Given the description of an element on the screen output the (x, y) to click on. 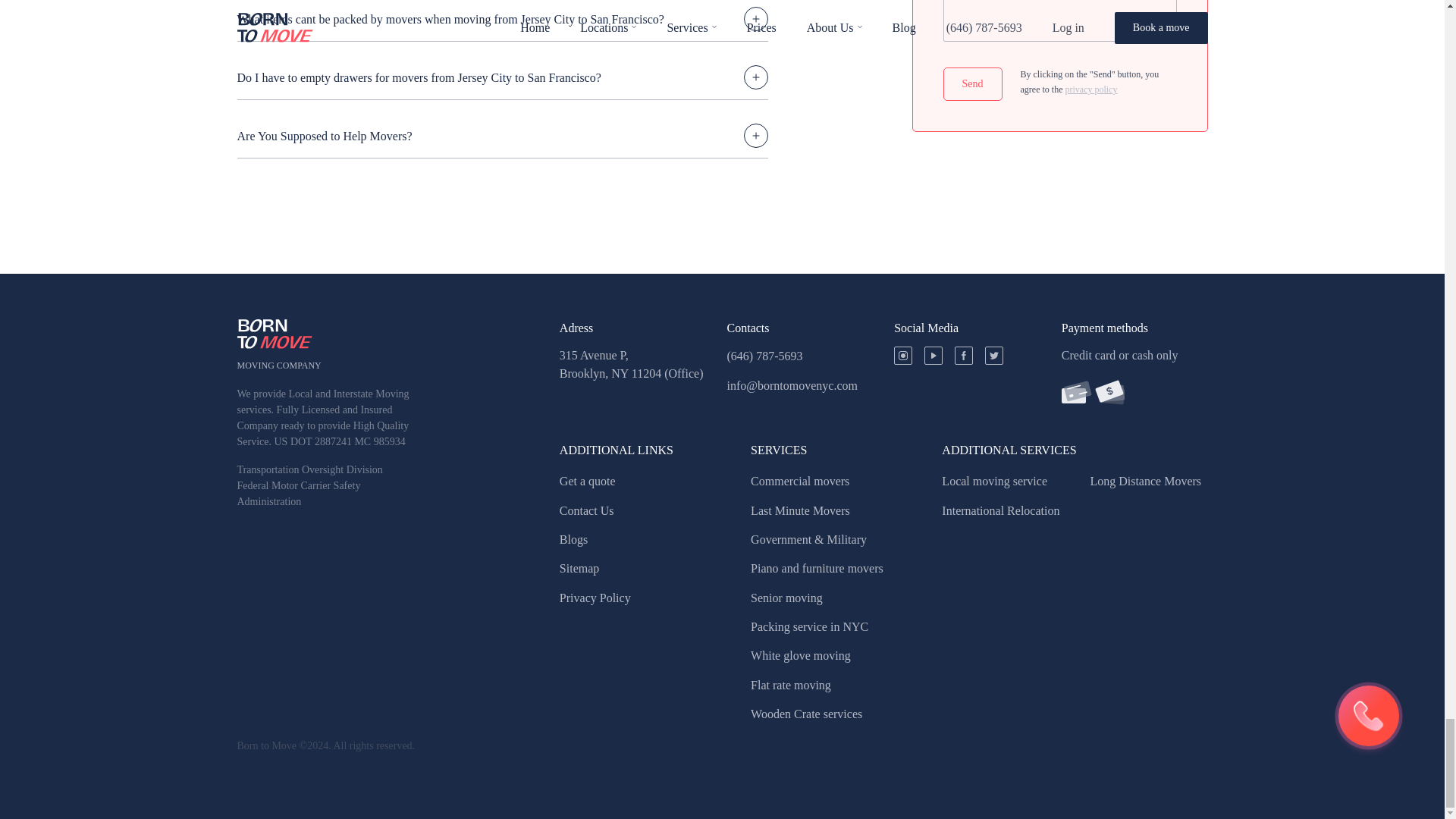
Send (973, 83)
privacy policy (1090, 89)
